Given the description of an element on the screen output the (x, y) to click on. 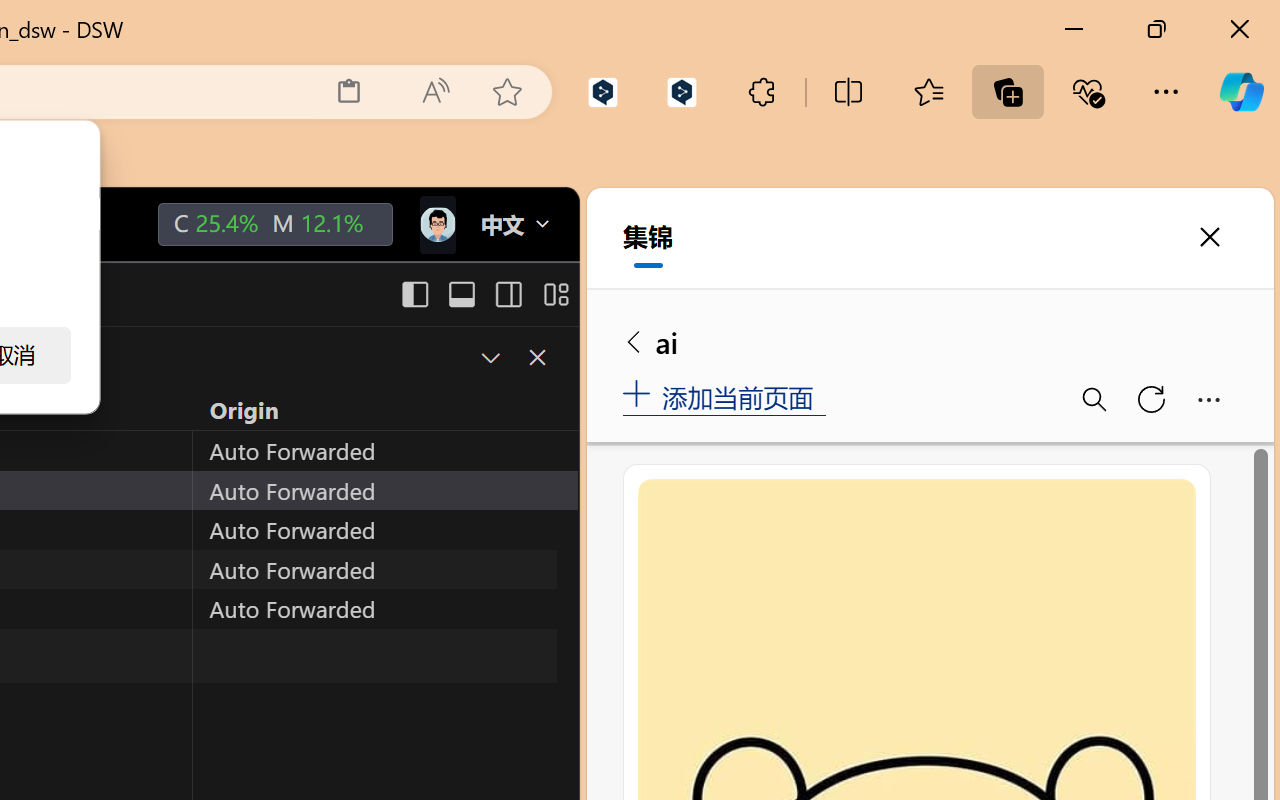
Toggle Panel (Ctrl+J) (461, 294)
Toggle Primary Side Bar (Ctrl+B) (413, 294)
Toggle Secondary Side Bar (Ctrl+Alt+B) (506, 294)
Copilot (Ctrl+Shift+.) (1241, 91)
icon (436, 220)
